Given the description of an element on the screen output the (x, y) to click on. 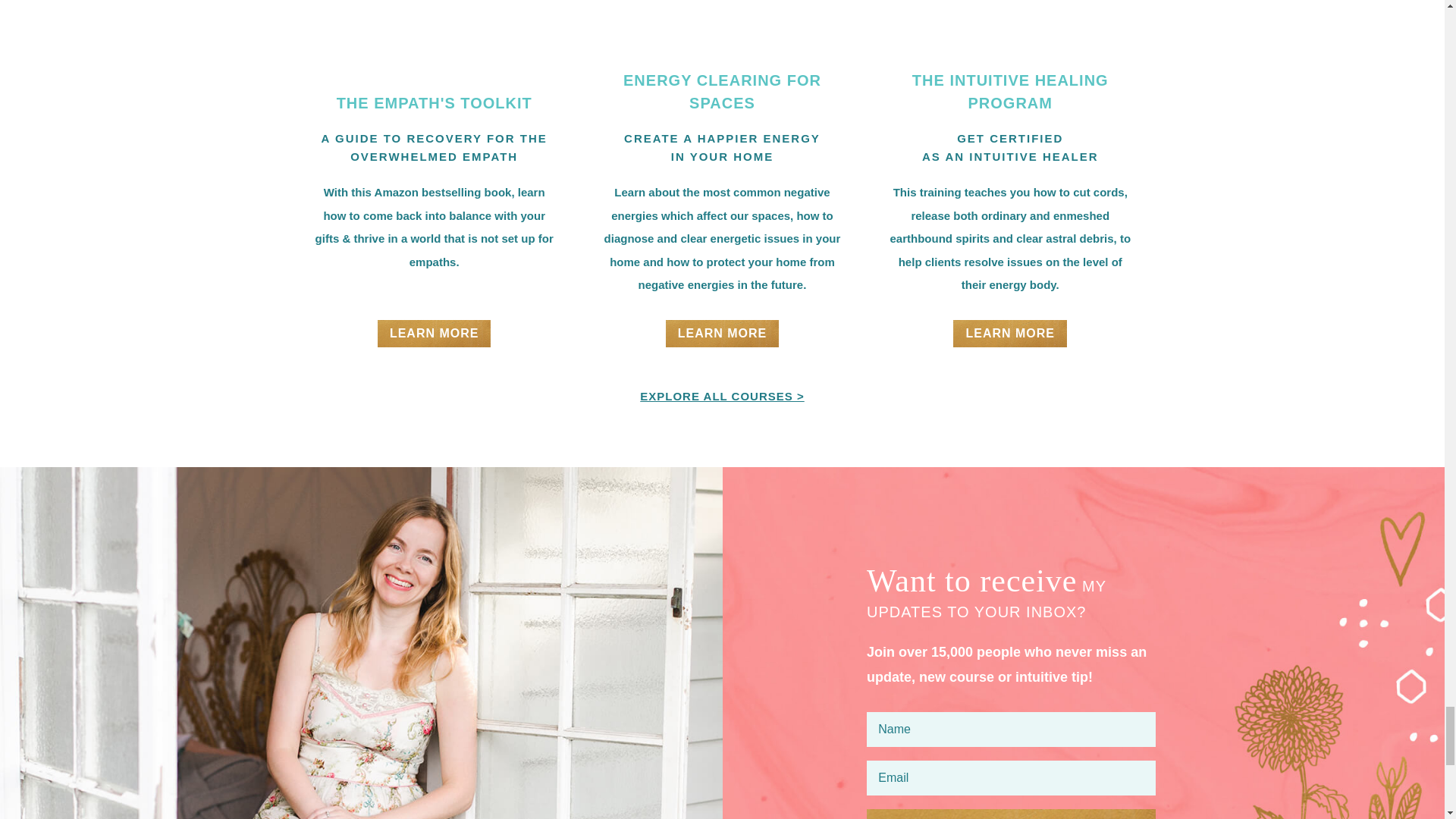
The Empaths Toolkit (433, 15)
ENERGY CLEARING FOR SPACES (721, 15)
The Intuitive Reading Program (1009, 15)
